Given the description of an element on the screen output the (x, y) to click on. 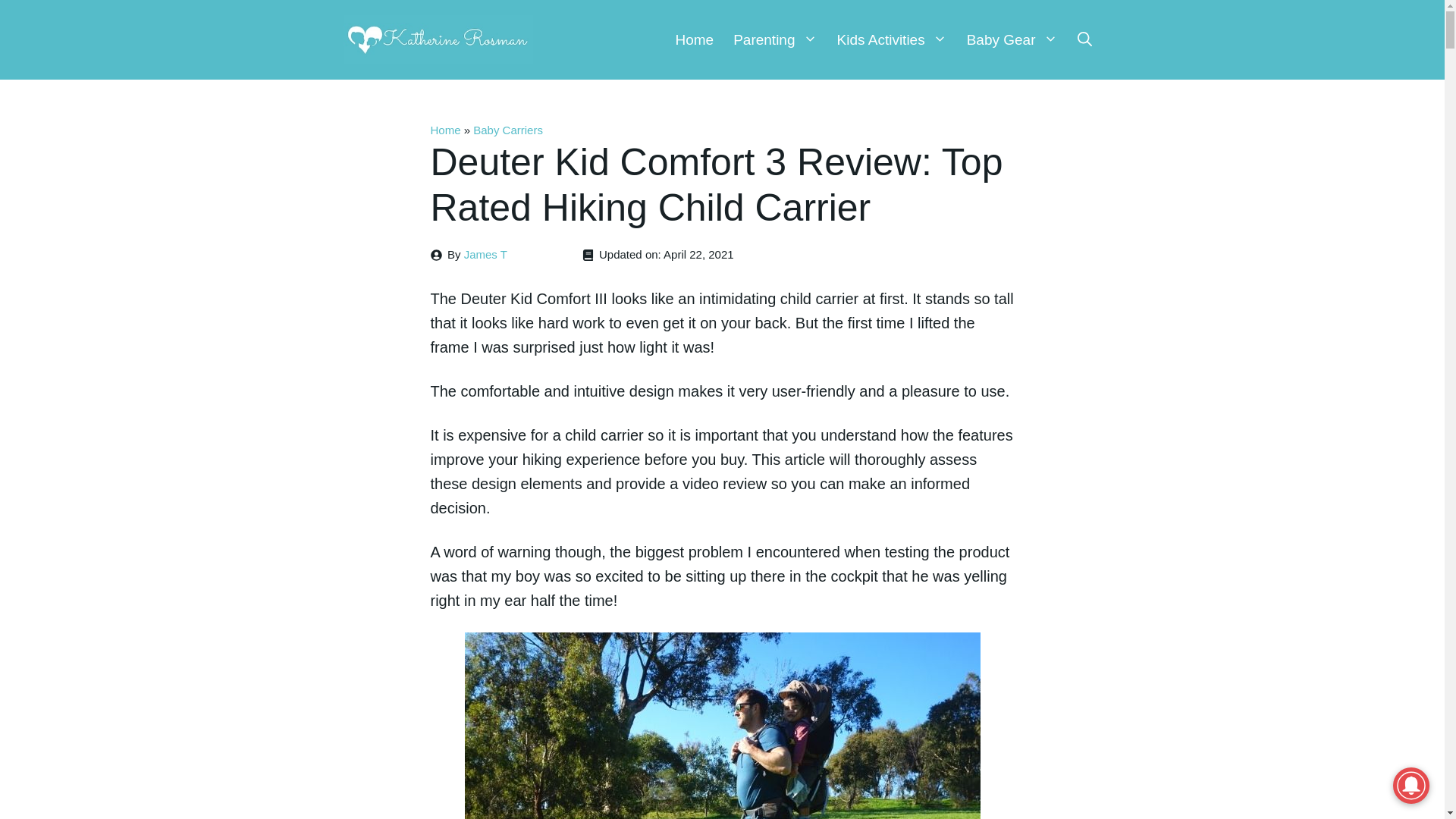
Home (694, 39)
Home (445, 129)
Parenting (775, 39)
Kids Activities (891, 39)
Baby Gear (1011, 39)
Katherine Rosman (437, 37)
James T (485, 254)
Katherine Rosman (437, 39)
Baby Carriers (508, 129)
